Given the description of an element on the screen output the (x, y) to click on. 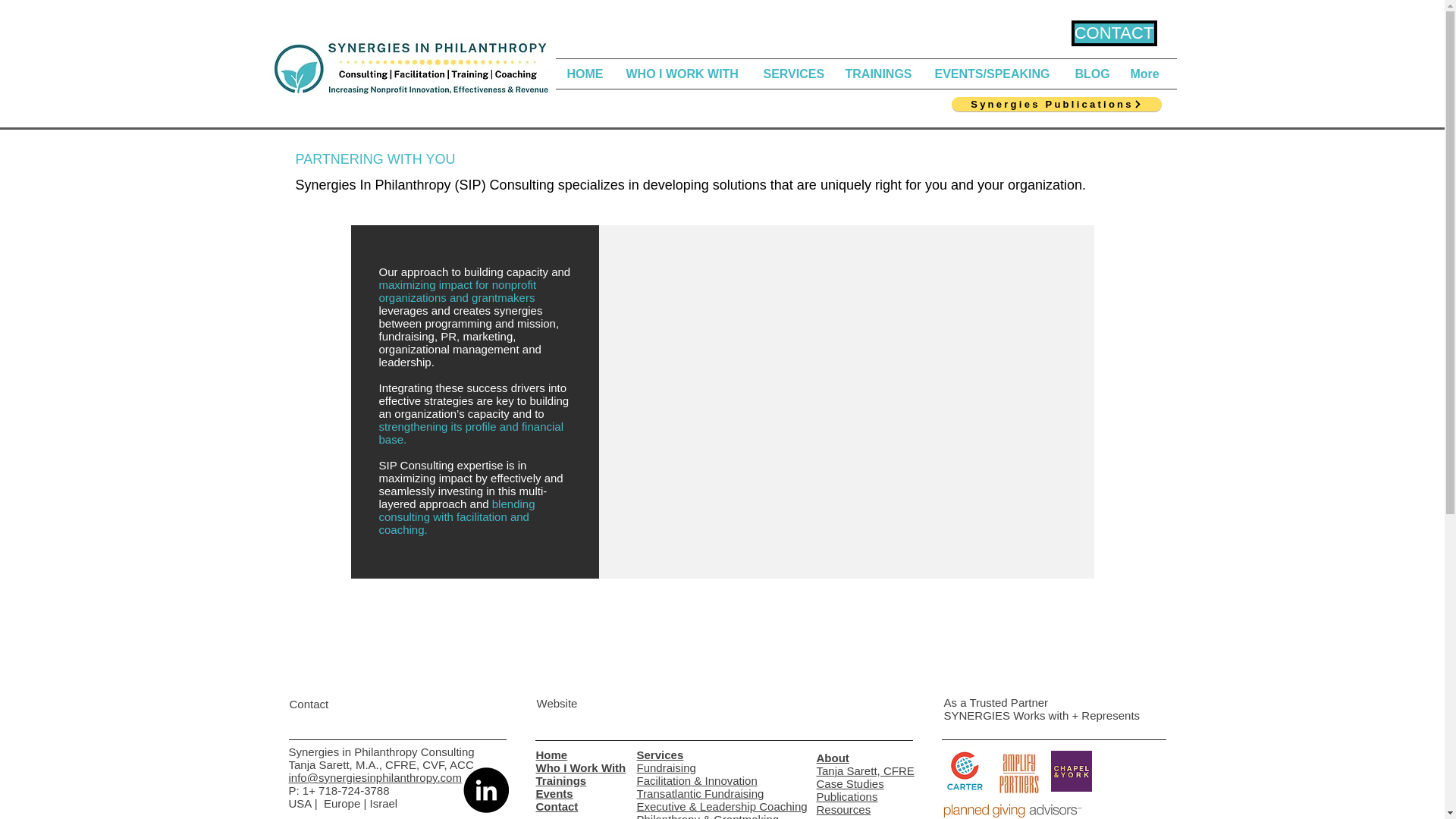
Transatlantic Fundraising (700, 793)
HOME (584, 73)
Services (660, 754)
Synergies Publications (1055, 104)
CONTACT (1113, 32)
WHO I WORK WITH (682, 73)
Fundraising (666, 767)
SERVICES (793, 73)
Home (551, 754)
Who I Work With (580, 767)
BLOG (1090, 73)
Events (553, 793)
Contact (556, 806)
TRAININGS (878, 73)
Trainings (560, 780)
